Given the description of an element on the screen output the (x, y) to click on. 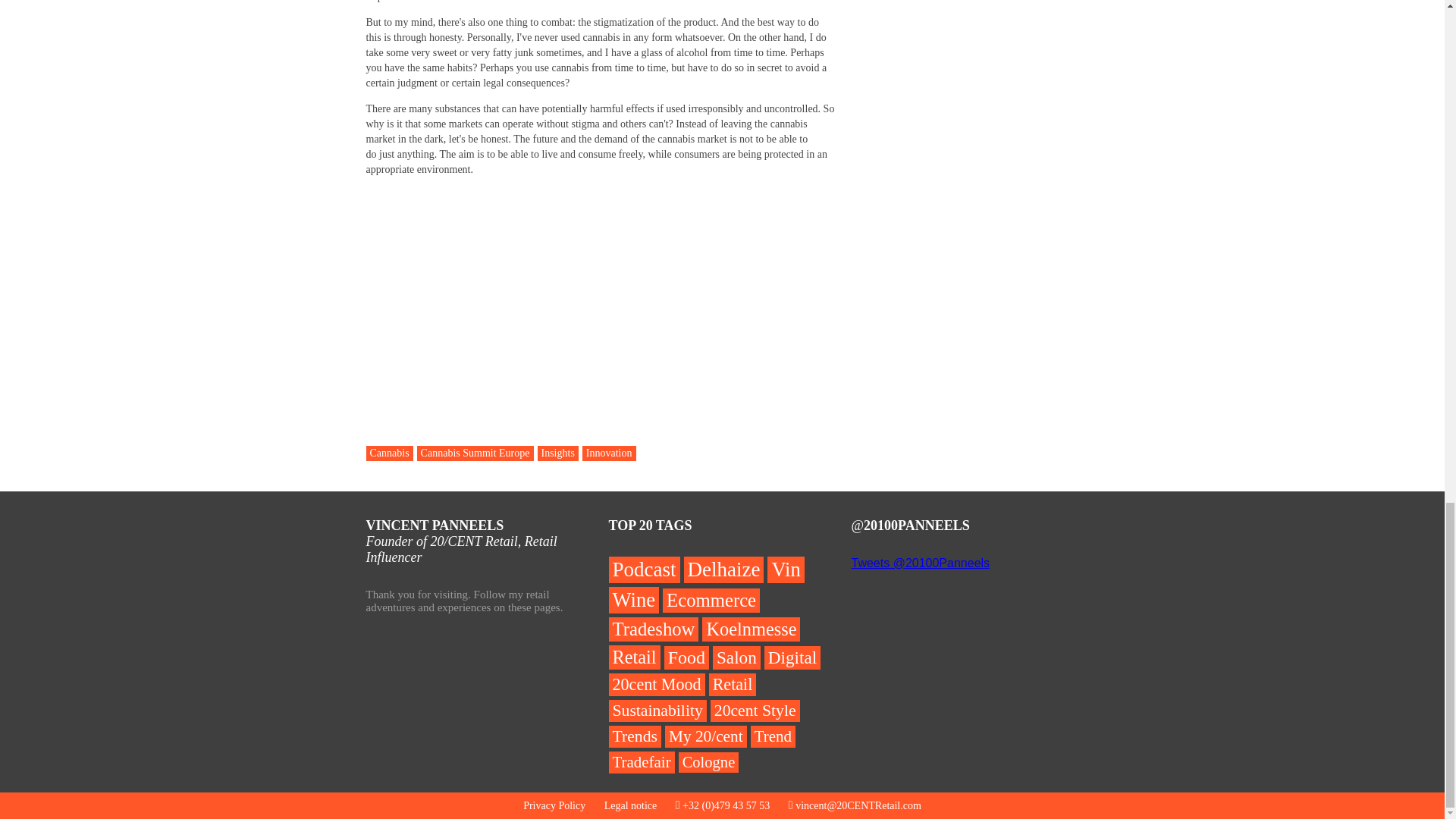
Salon (736, 657)
Vin (785, 569)
Trends (634, 736)
20cent Style (754, 710)
Delhaize (724, 569)
Retail (733, 684)
Sustainability (657, 710)
Podcast (643, 569)
Ecommerce (711, 600)
Food (686, 657)
Tradefair (641, 762)
Insights (557, 453)
Digital (792, 657)
Wine (633, 600)
Trend (772, 736)
